Given the description of an element on the screen output the (x, y) to click on. 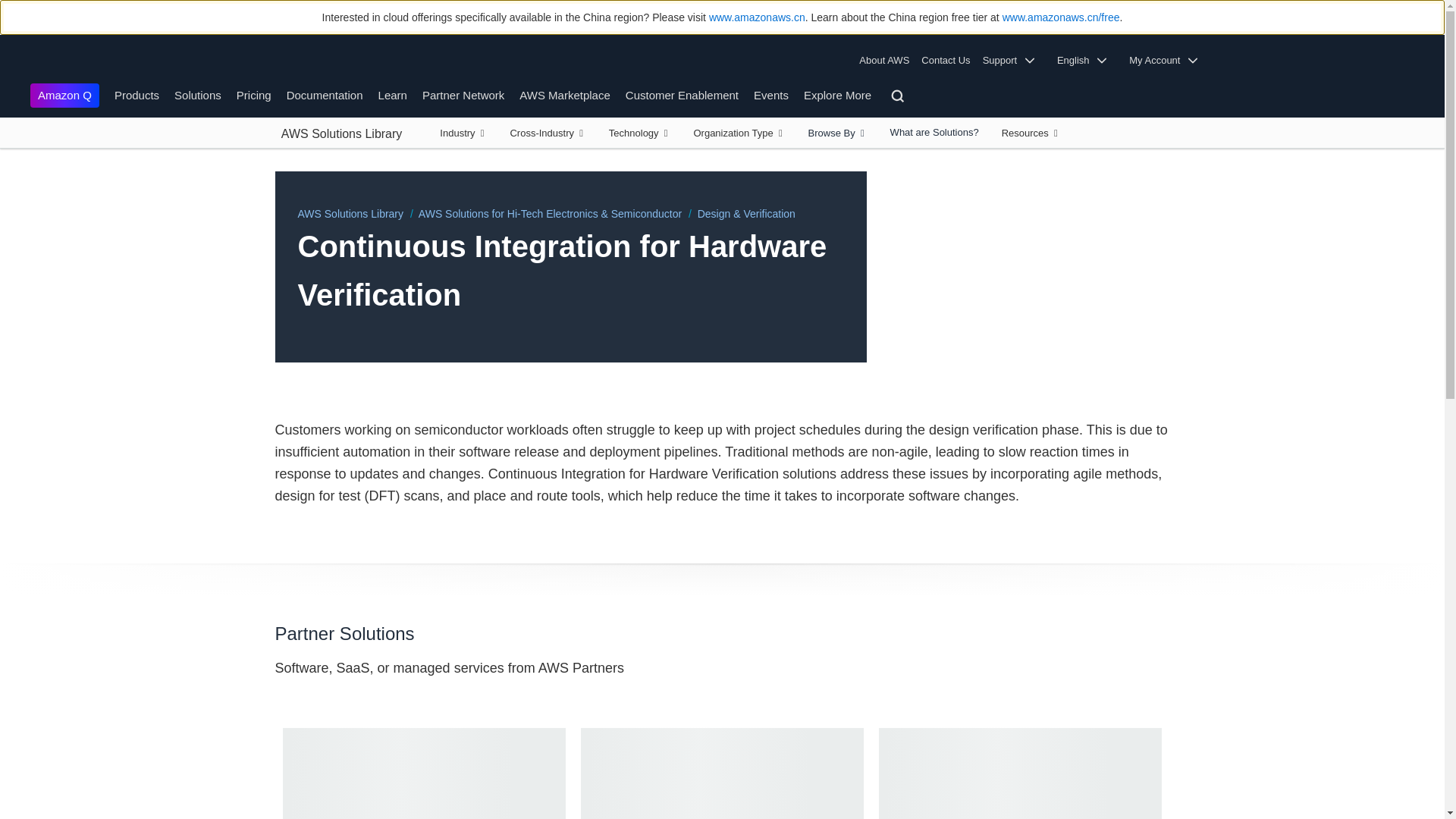
Click here to return to Amazon Web Services homepage (52, 61)
My Account   (1168, 60)
www.amazonaws.cn (757, 17)
Events (771, 94)
Products (136, 94)
Amazon Q (64, 95)
About AWS (887, 60)
Pricing (252, 94)
Partner Network (462, 94)
Documentation (324, 94)
